Given the description of an element on the screen output the (x, y) to click on. 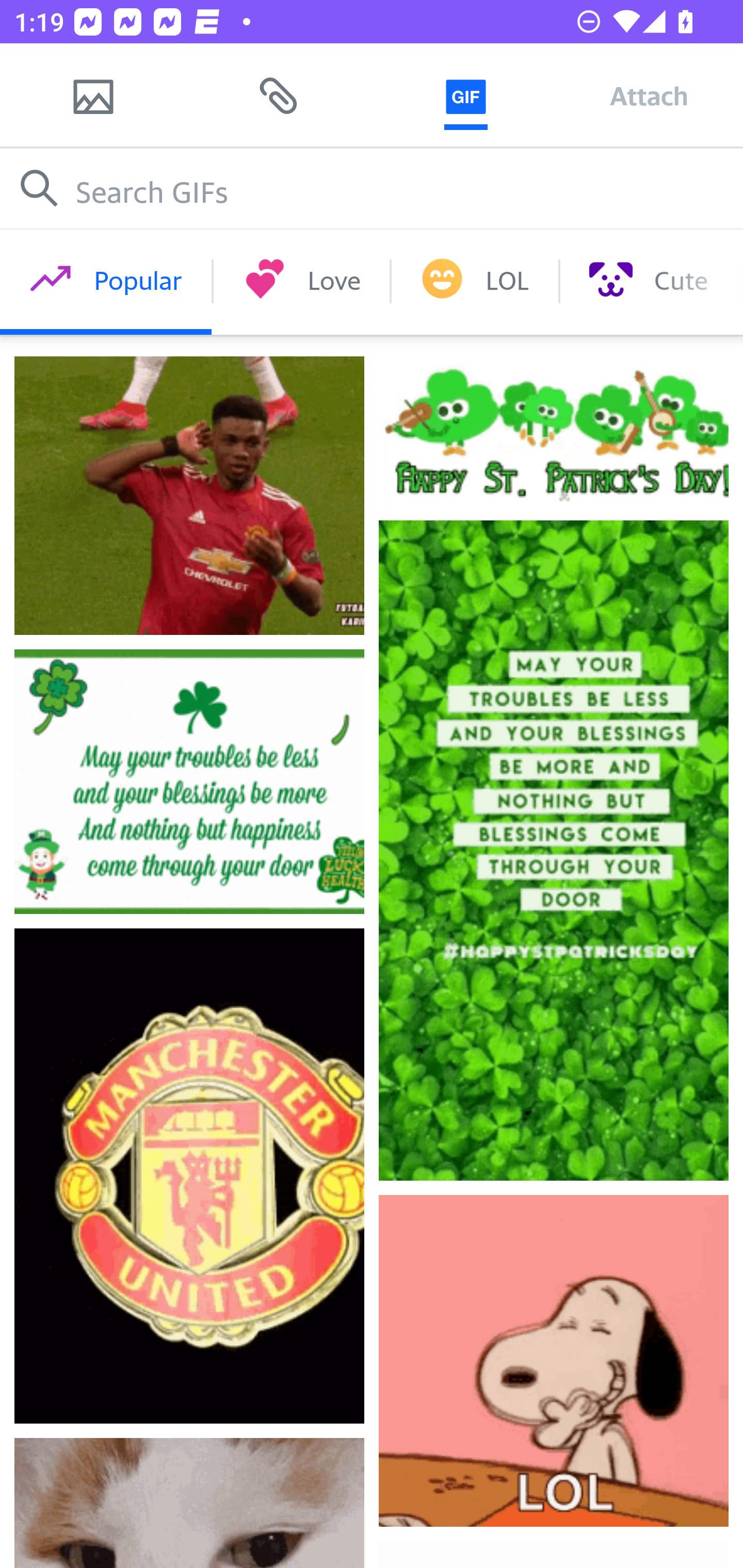
Camera photos (93, 95)
Recent attachments from mail (279, 95)
GIFs (465, 95)
Attach (649, 95)
Search GIFs (371, 187)
Popular (105, 280)
Love (301, 280)
LOL (474, 280)
Cute (648, 280)
